Given the description of an element on the screen output the (x, y) to click on. 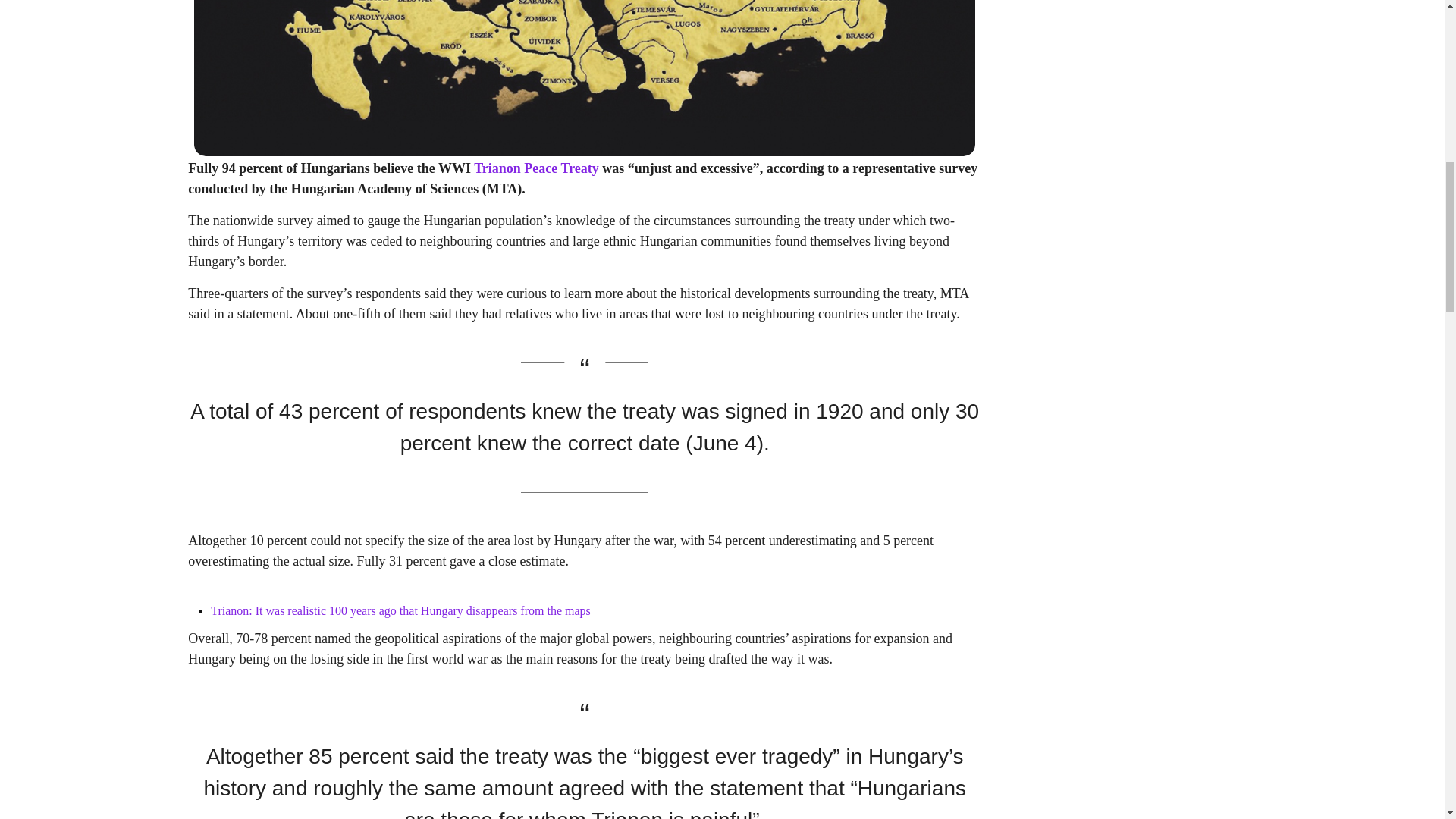
Trianon Peace Treaty (536, 168)
